Given the description of an element on the screen output the (x, y) to click on. 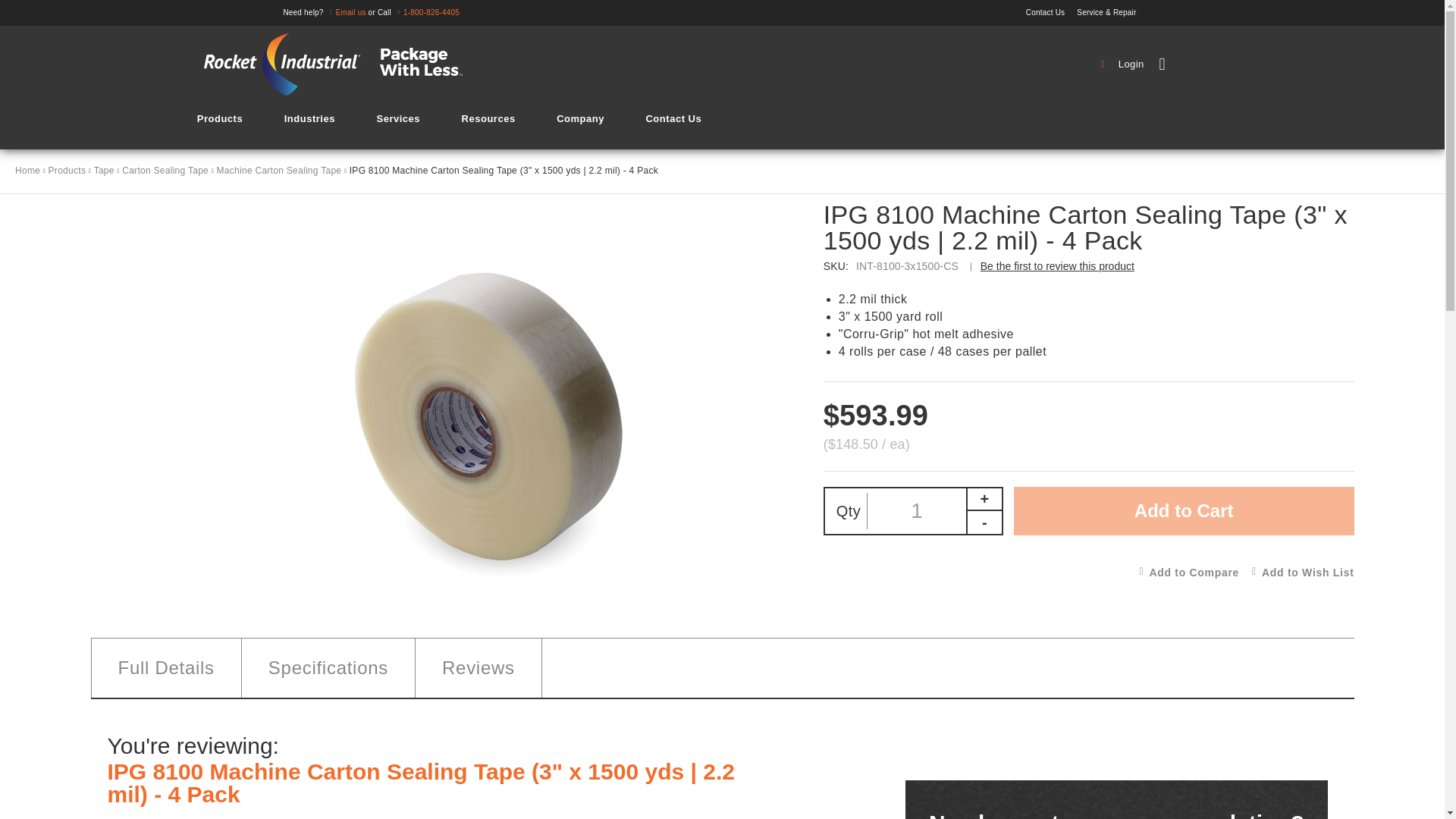
Contact Us (1050, 12)
Email us (346, 12)
Products (219, 118)
Rocket Industrial Logo (342, 64)
Contact Us (1050, 12)
1 (916, 510)
My Cart (1207, 64)
Login (1124, 64)
1-800-826-4405 (426, 12)
